Given the description of an element on the screen output the (x, y) to click on. 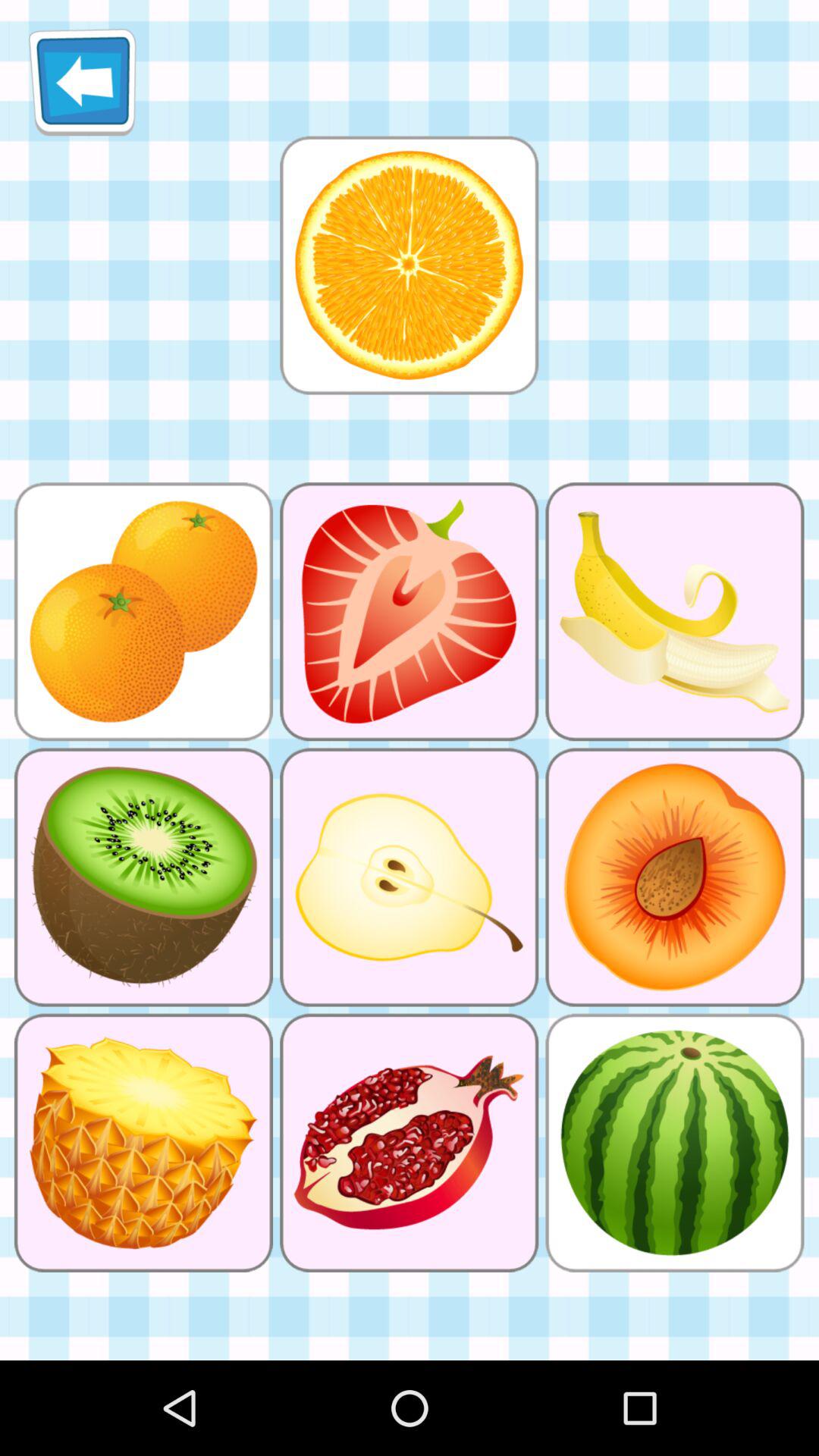
go back button (82, 82)
